Given the description of an element on the screen output the (x, y) to click on. 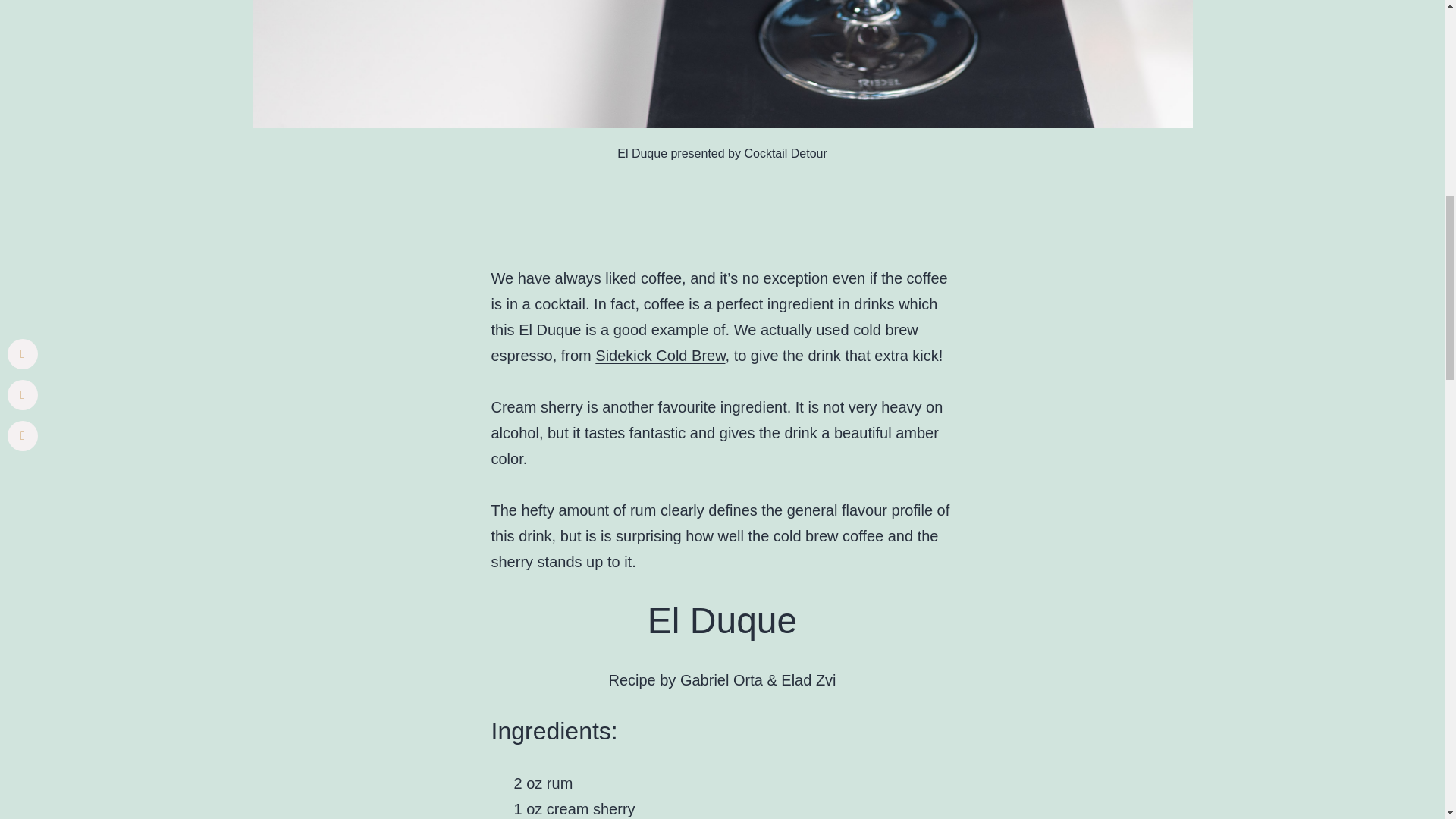
Sidekick Cold Brew (660, 355)
